Given the description of an element on the screen output the (x, y) to click on. 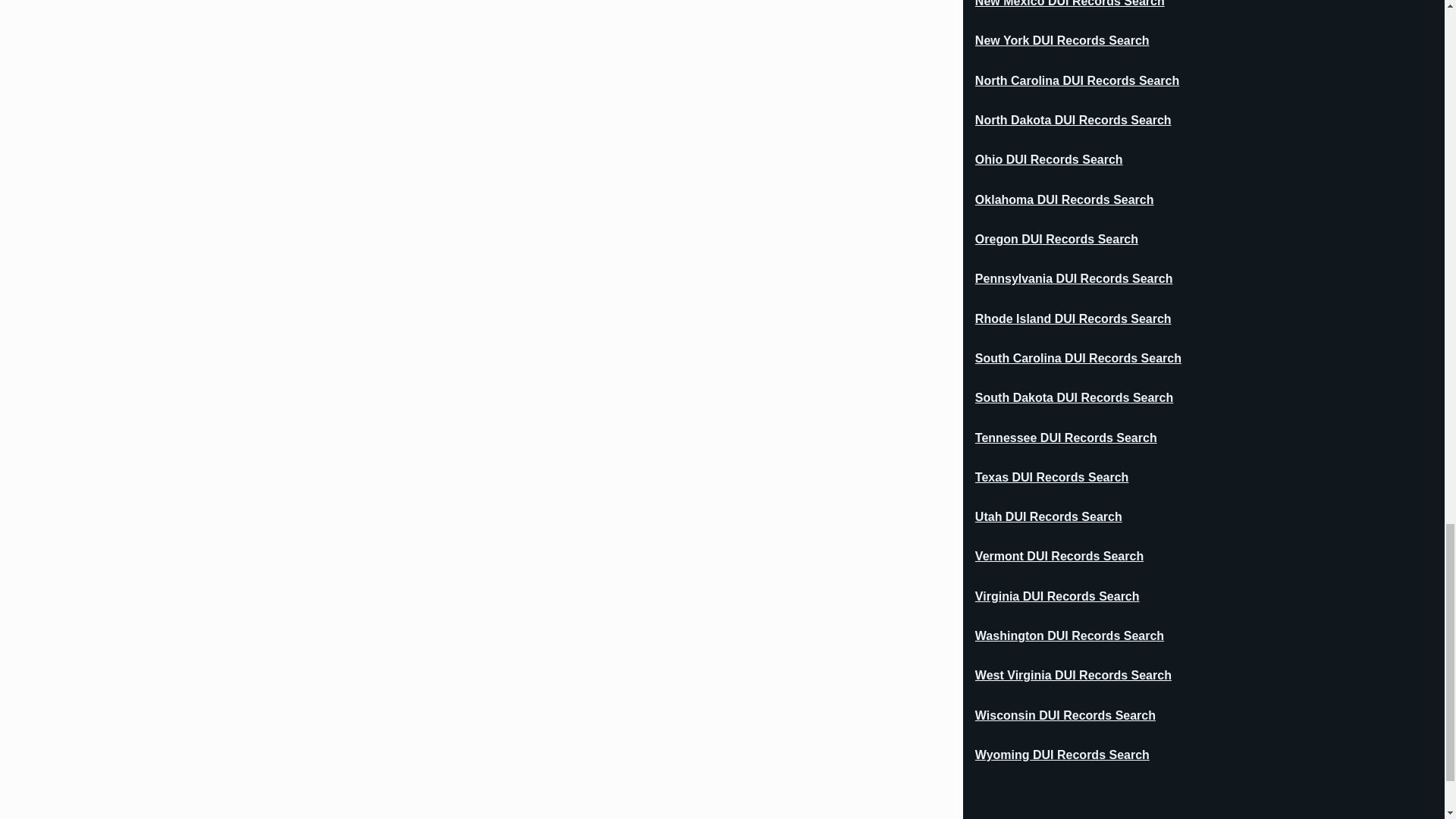
North Dakota DUI Records Search (1073, 120)
New Mexico DUI Records Search (1069, 4)
North Carolina DUI Records Search (1077, 80)
Ohio DUI Records Search (1048, 160)
New York DUI Records Search (1062, 40)
